Given the description of an element on the screen output the (x, y) to click on. 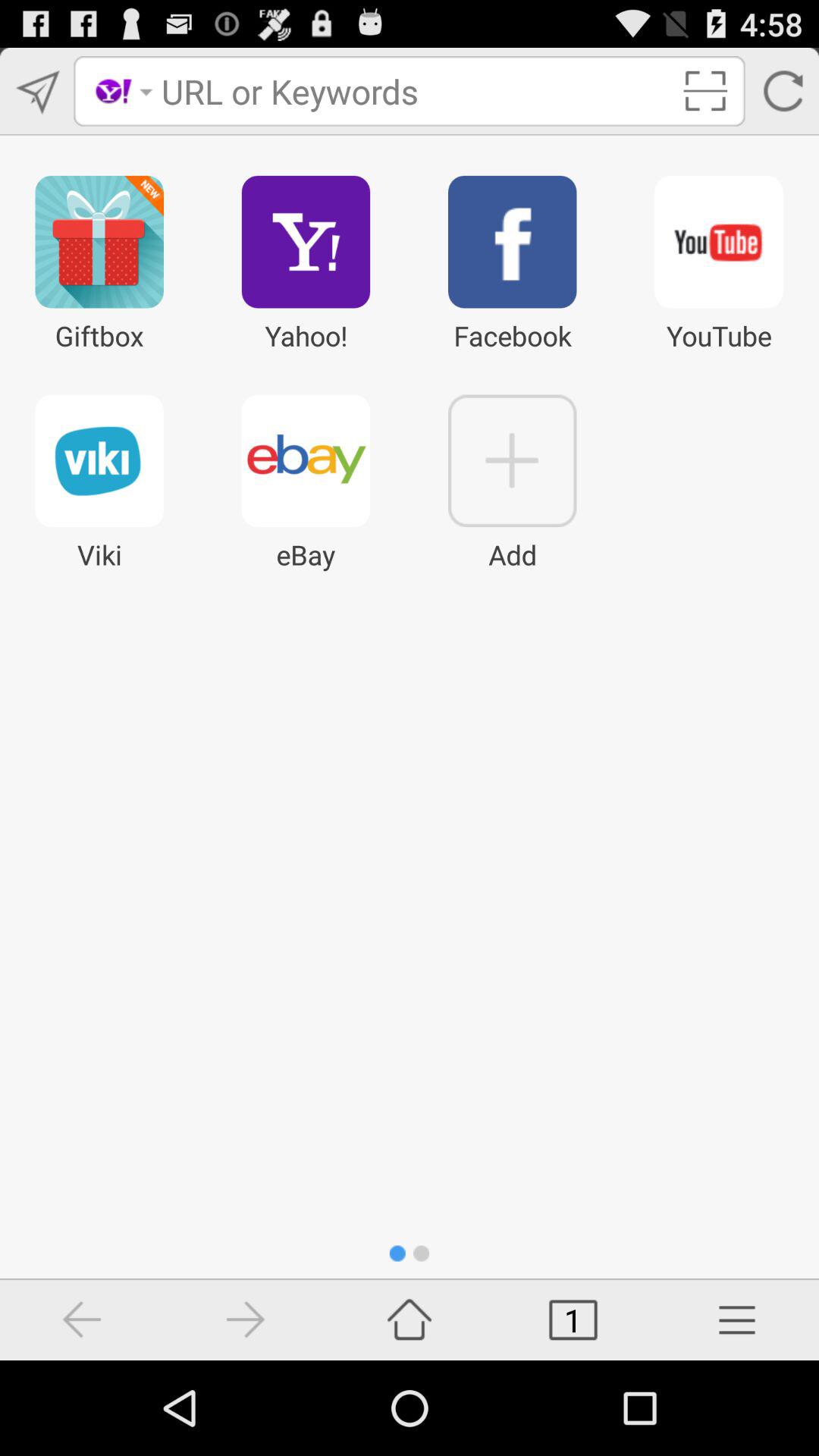
select the item below the viki (245, 1319)
